Given the description of an element on the screen output the (x, y) to click on. 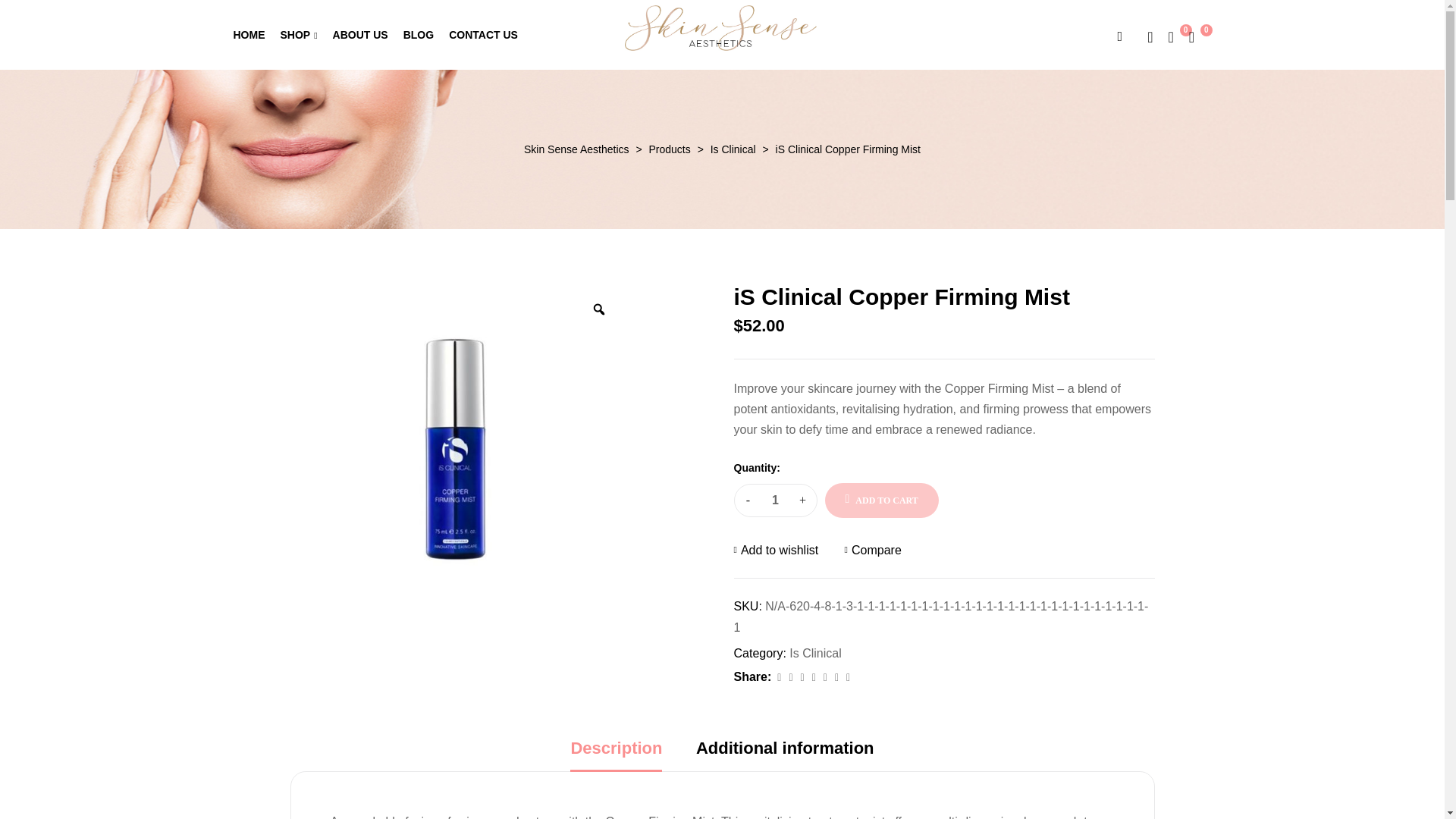
Go to the Is Clinical Category archives. (732, 149)
Compare (872, 549)
Go to Products. (669, 149)
Go to Skin Sense Aesthetics. (576, 149)
ABOUT US (360, 34)
0 (1171, 36)
Share on LinkedIn (802, 676)
HOME (248, 34)
Add to wishlist (775, 549)
Is Clinical (815, 653)
ADD TO CART (882, 500)
BLOG (418, 34)
Email to a Friend (848, 676)
0 (1194, 36)
Share on facebook (778, 676)
